Given the description of an element on the screen output the (x, y) to click on. 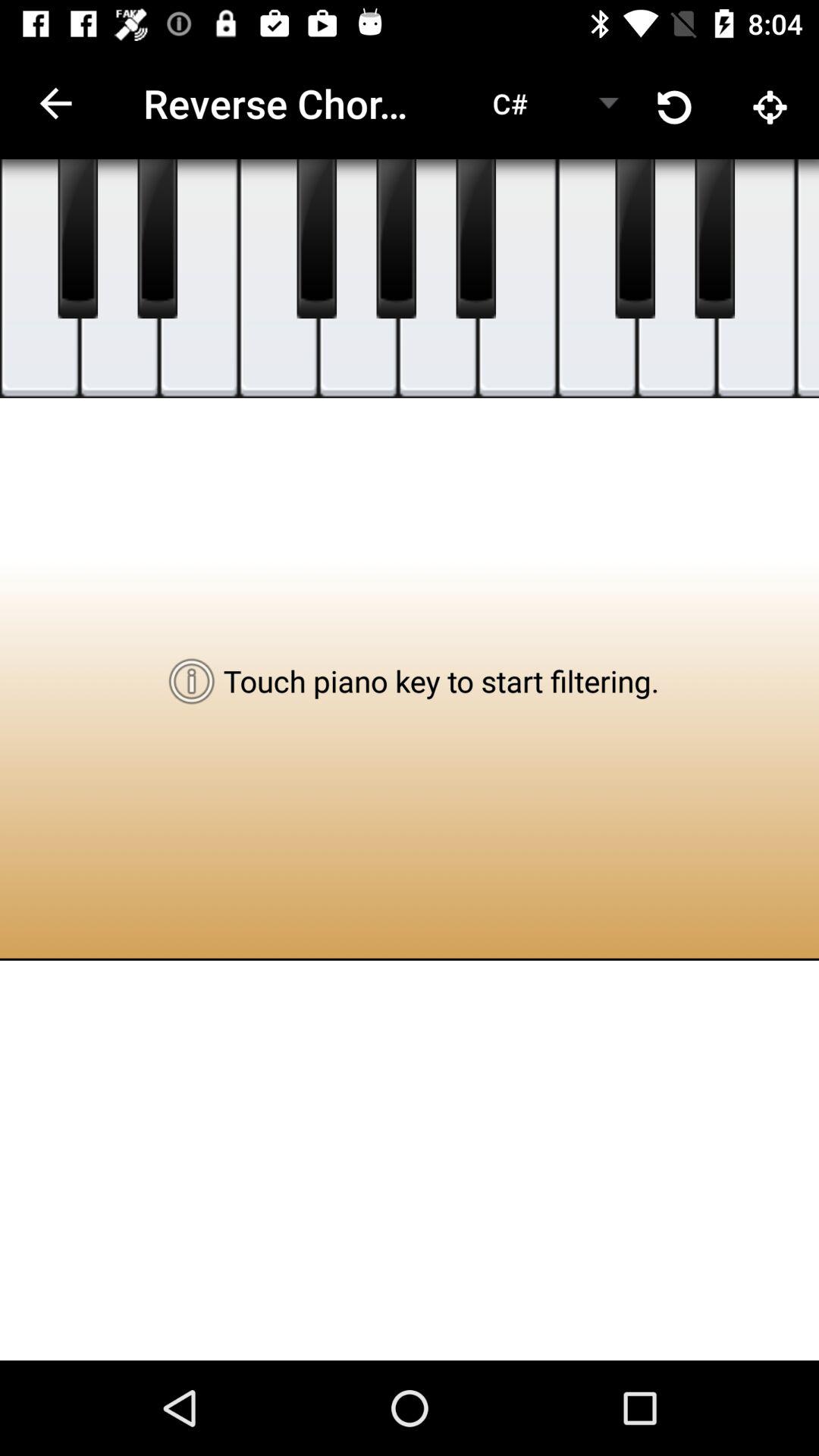
hit c note (517, 278)
